Given the description of an element on the screen output the (x, y) to click on. 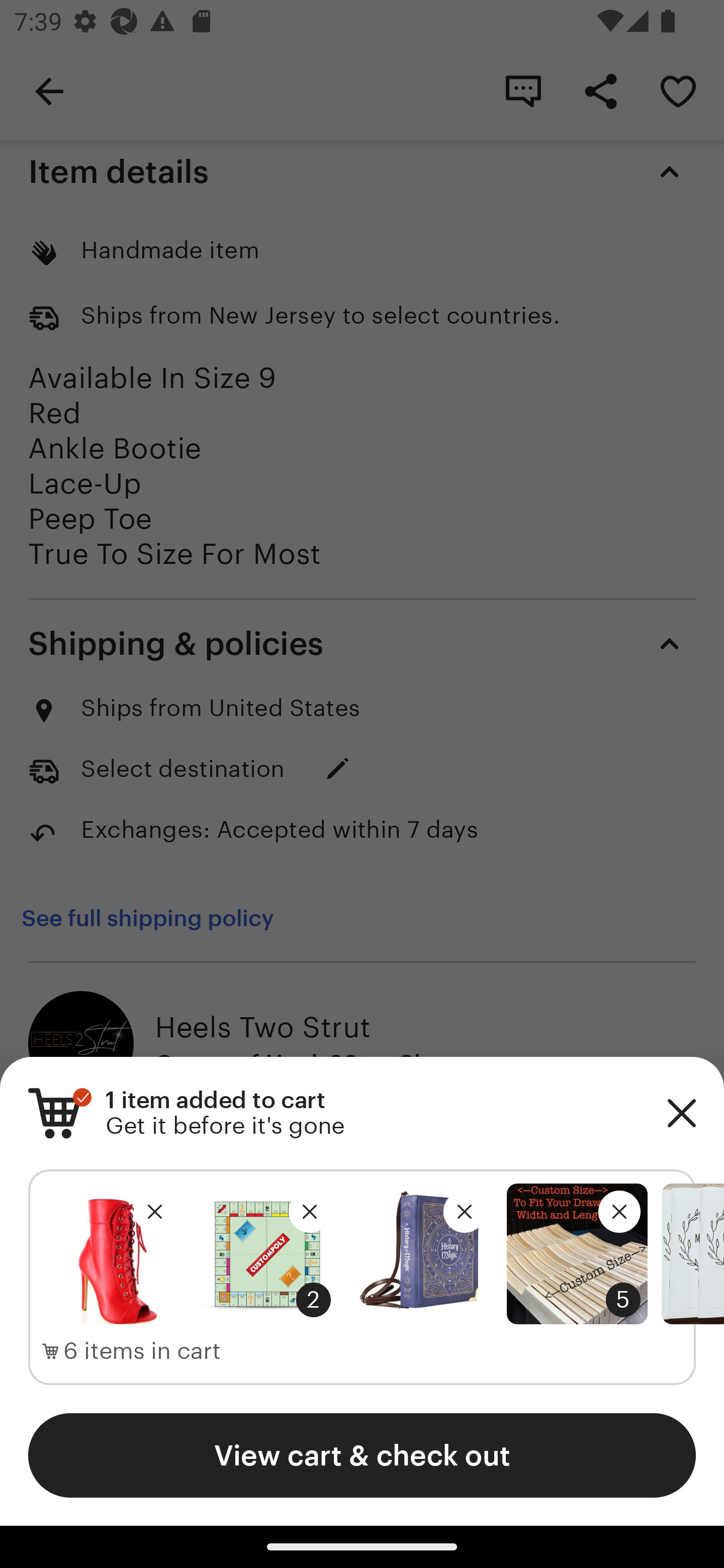
6 items in cart (131, 1351)
View cart & check out (361, 1454)
